Given the description of an element on the screen output the (x, y) to click on. 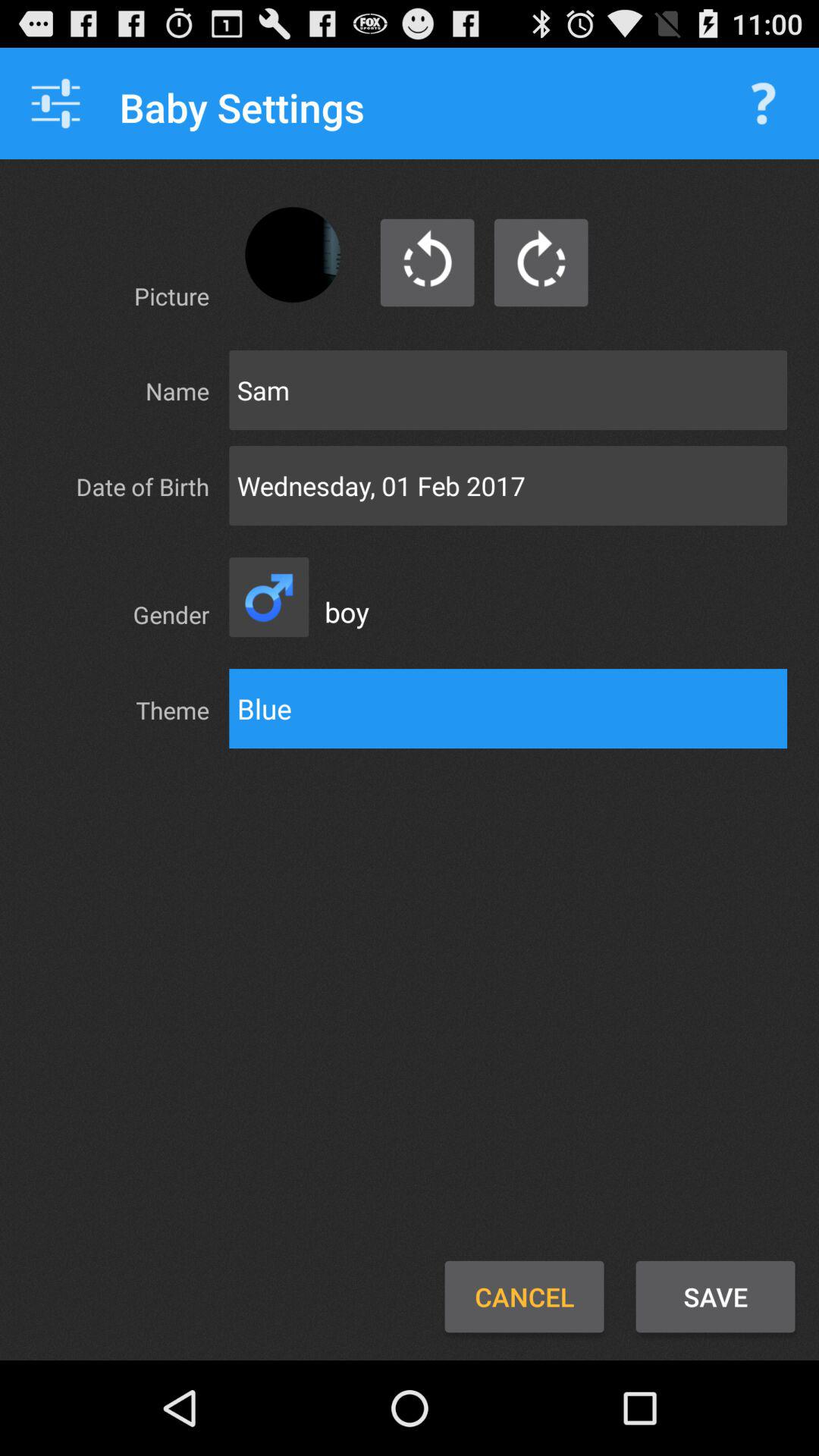
help logon (763, 103)
